Given the description of an element on the screen output the (x, y) to click on. 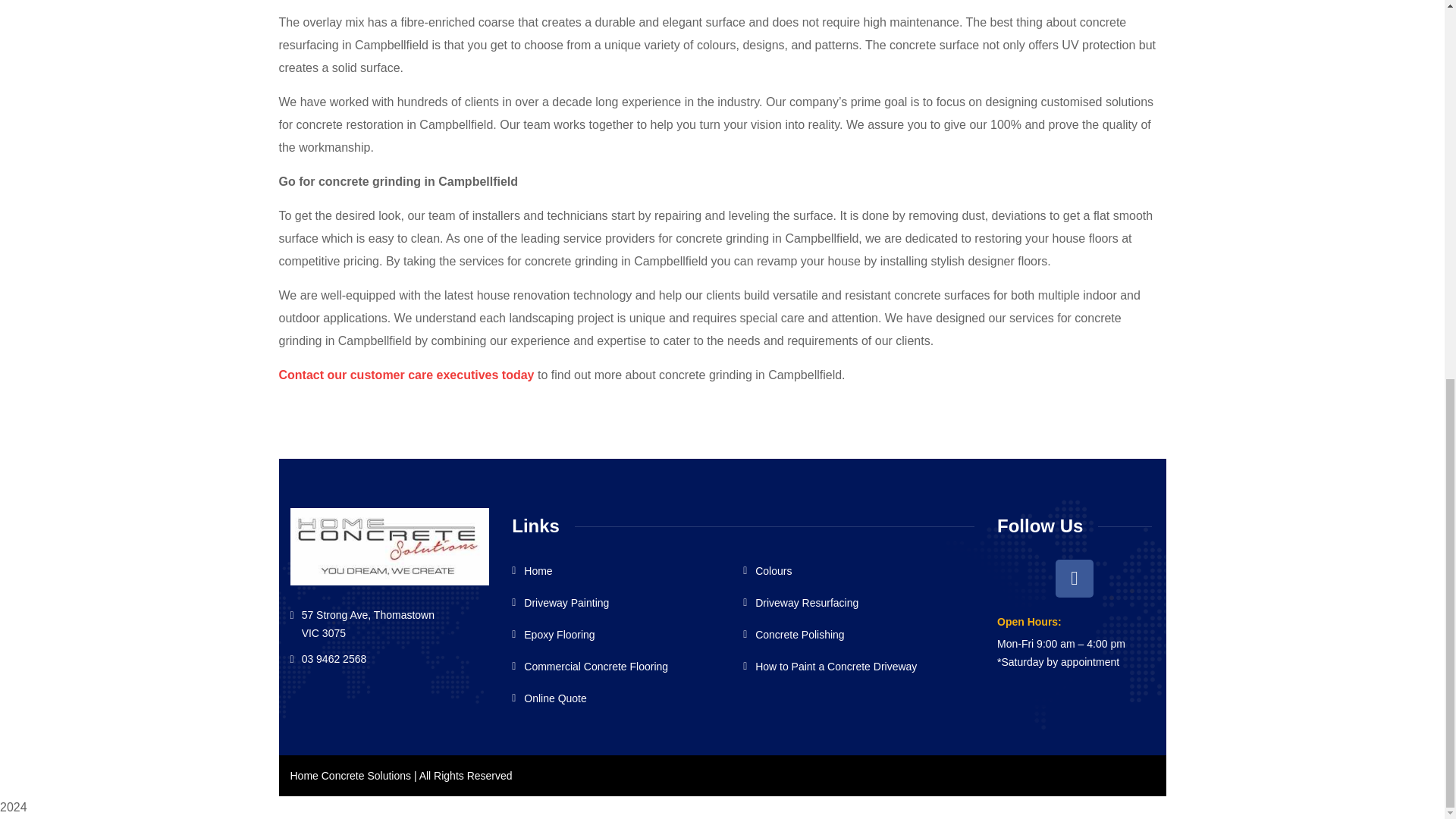
Home (531, 571)
Colours (767, 571)
Contact our customer care executives today (406, 374)
Driveway Painting (560, 603)
Driveway Resurfacing (800, 603)
